Given the description of an element on the screen output the (x, y) to click on. 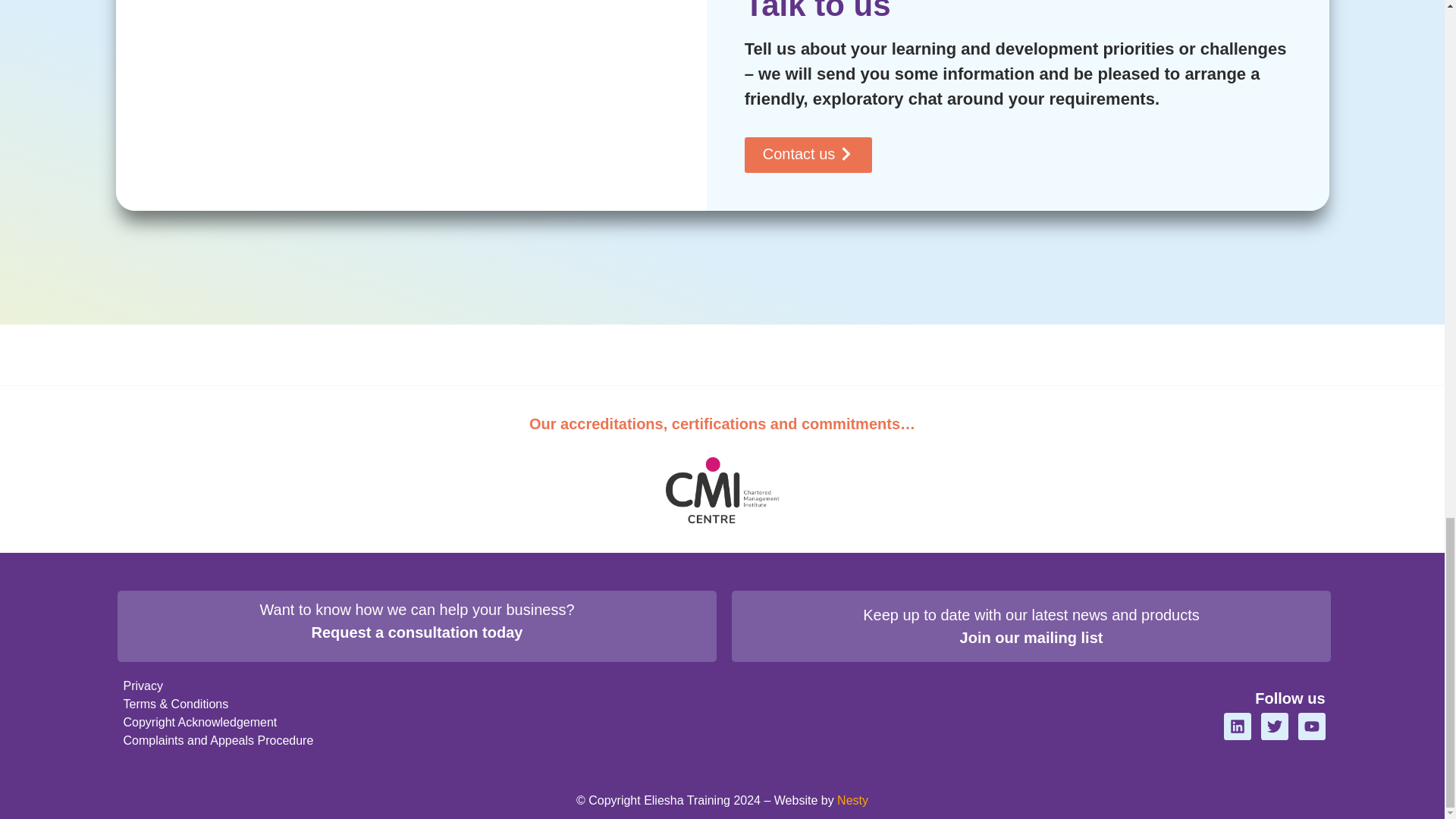
Copyright Acknowledgement (217, 722)
Complaints and Appeals Procedure (217, 741)
Nesty (852, 799)
Privacy (217, 686)
Contact us (808, 154)
